Given the description of an element on the screen output the (x, y) to click on. 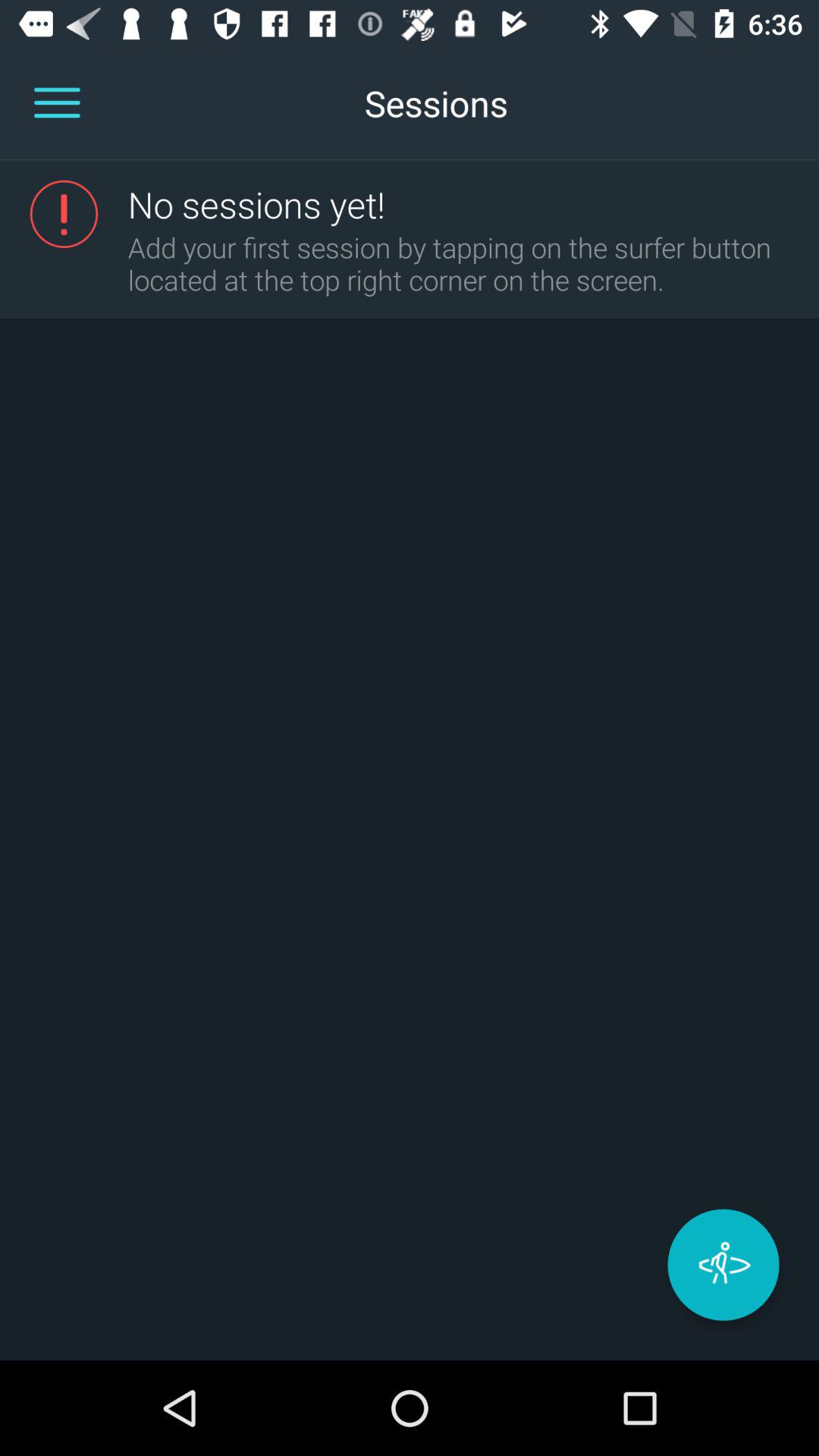
choose item below the add your first icon (723, 1264)
